Given the description of an element on the screen output the (x, y) to click on. 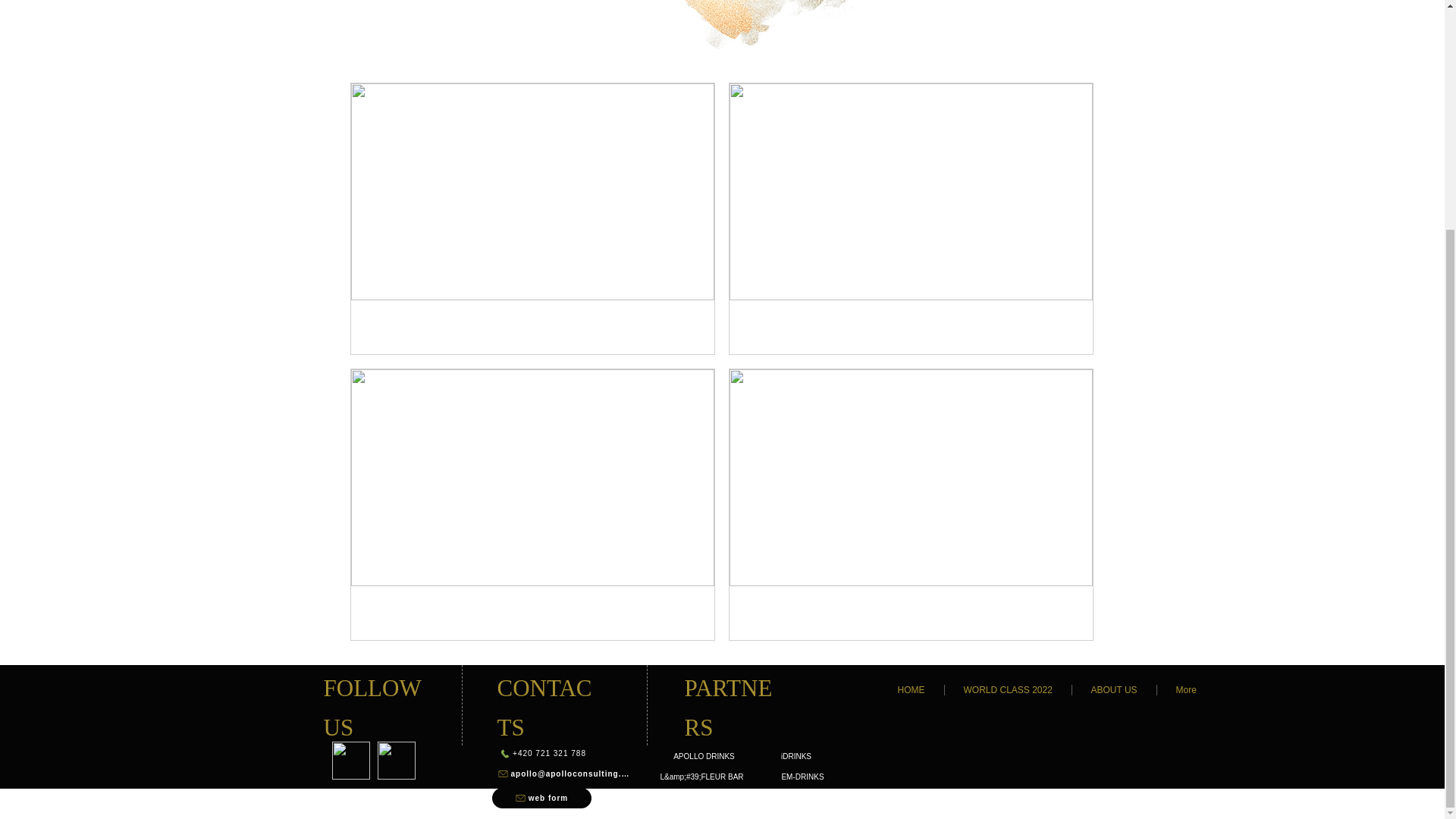
STOCK (689, 798)
EM-DRINKS (802, 777)
HOME (910, 689)
WORLD CLASS 2022 (1007, 689)
ABOUT US (1113, 689)
APOLLO DRINKS (704, 757)
web form (541, 797)
iDRINKS (795, 757)
